Given the description of an element on the screen output the (x, y) to click on. 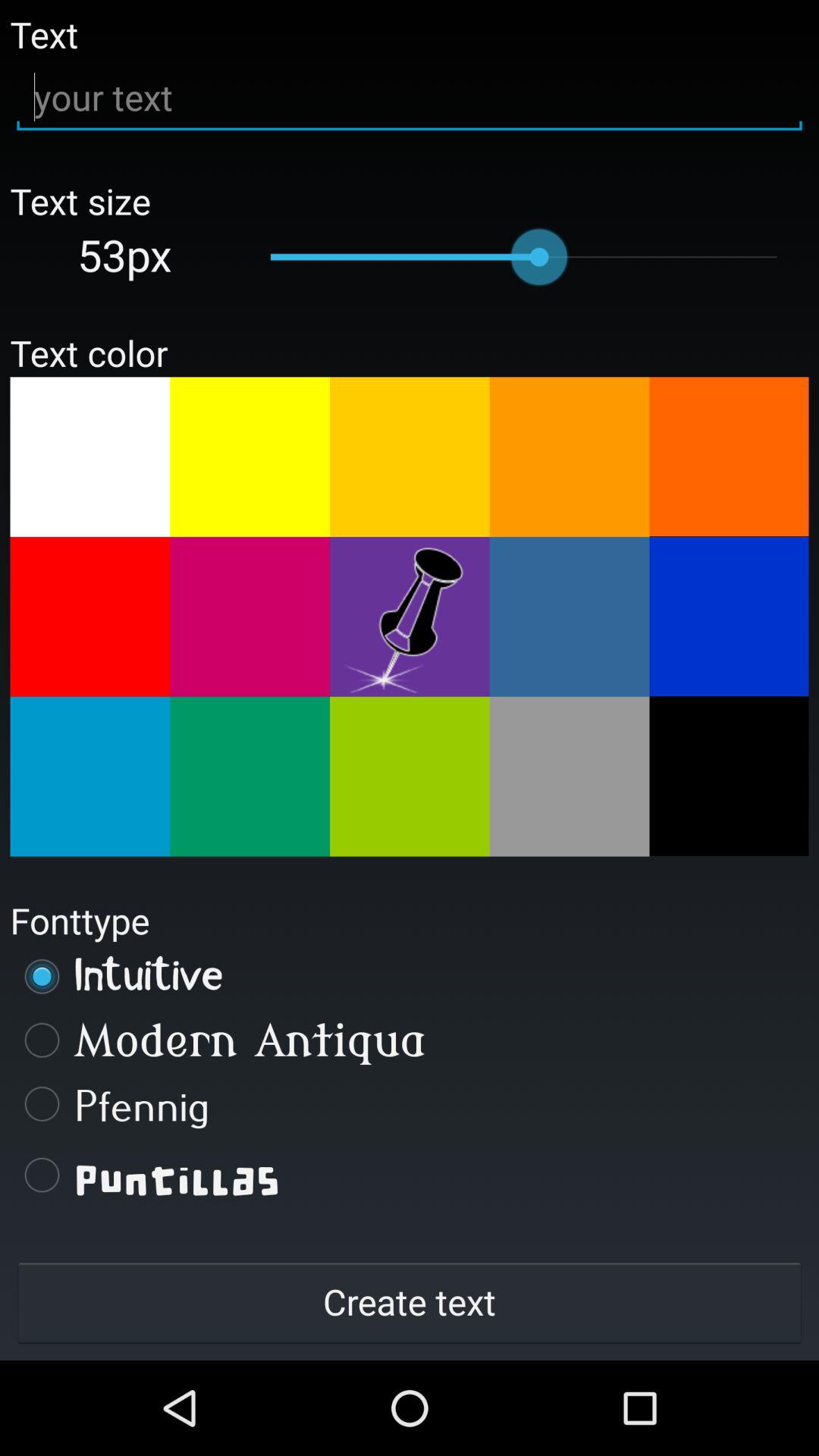
open the intuitive (409, 976)
